Given the description of an element on the screen output the (x, y) to click on. 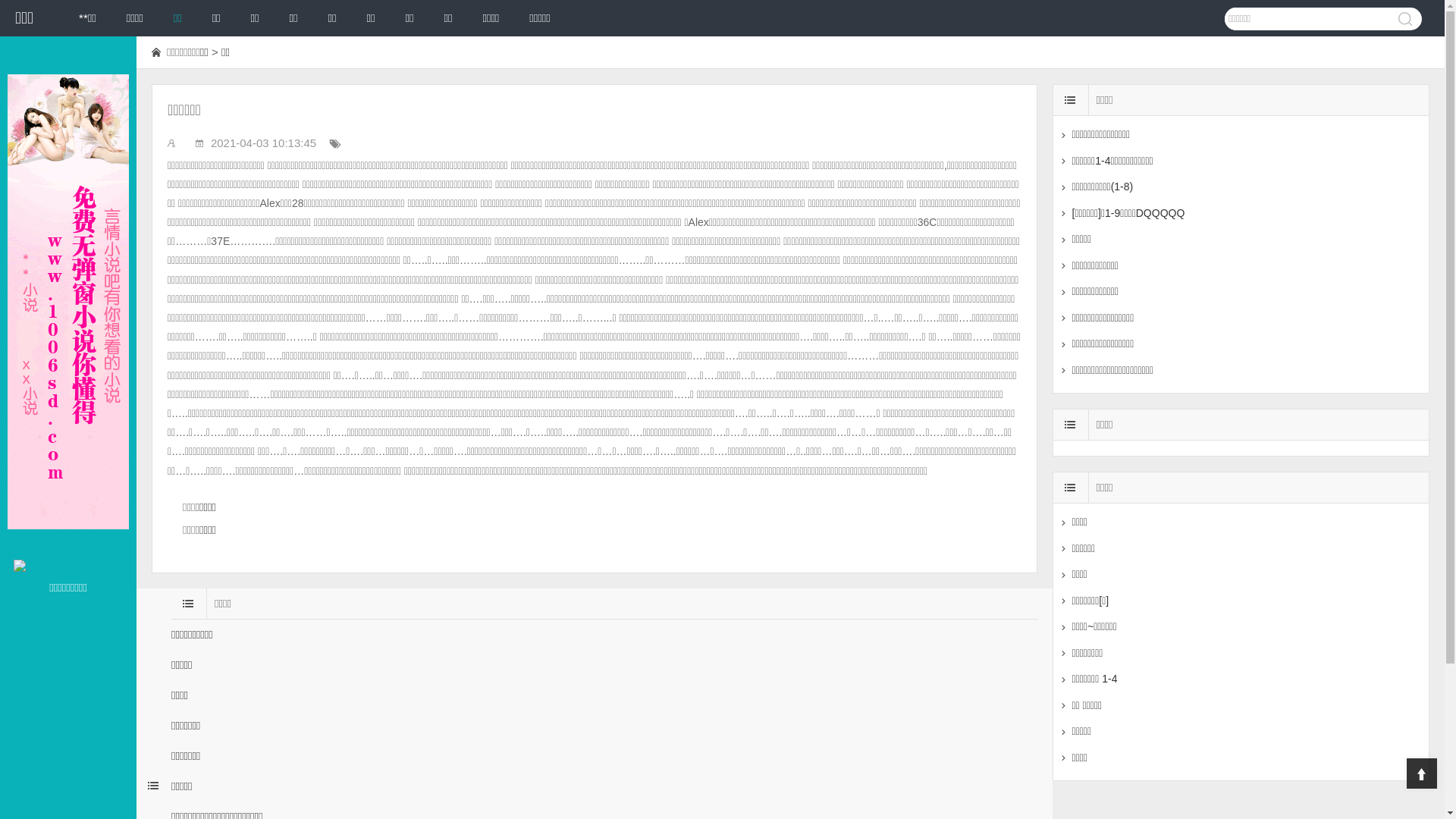
Top Element type: text (1421, 773)
